Given the description of an element on the screen output the (x, y) to click on. 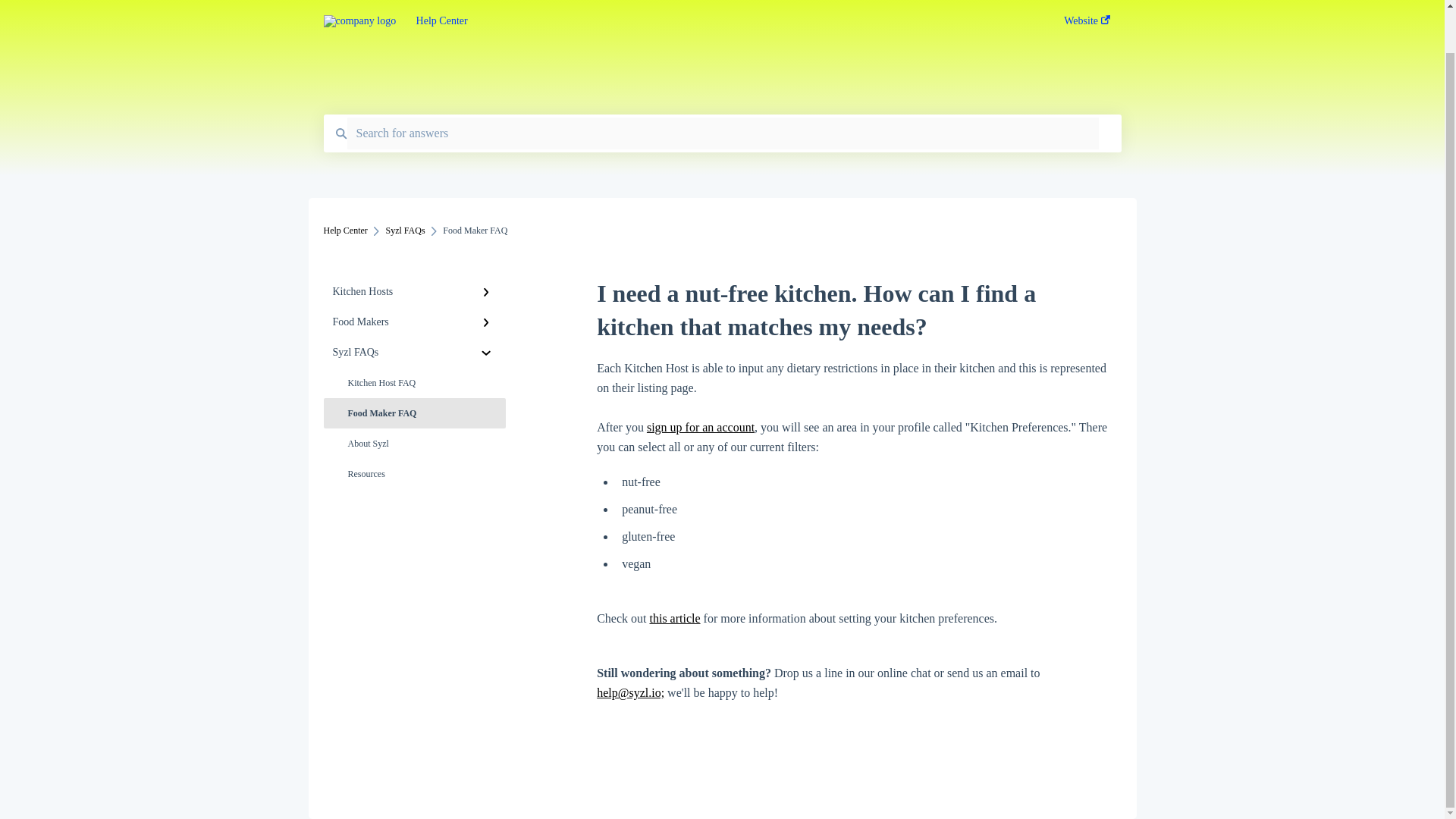
Syzl FAQs (414, 352)
Help Center (344, 230)
Food Makers (414, 322)
Syzl FAQs (405, 230)
Kitchen Host FAQ (414, 382)
Website (1086, 2)
Kitchen Hosts (414, 291)
